Given the description of an element on the screen output the (x, y) to click on. 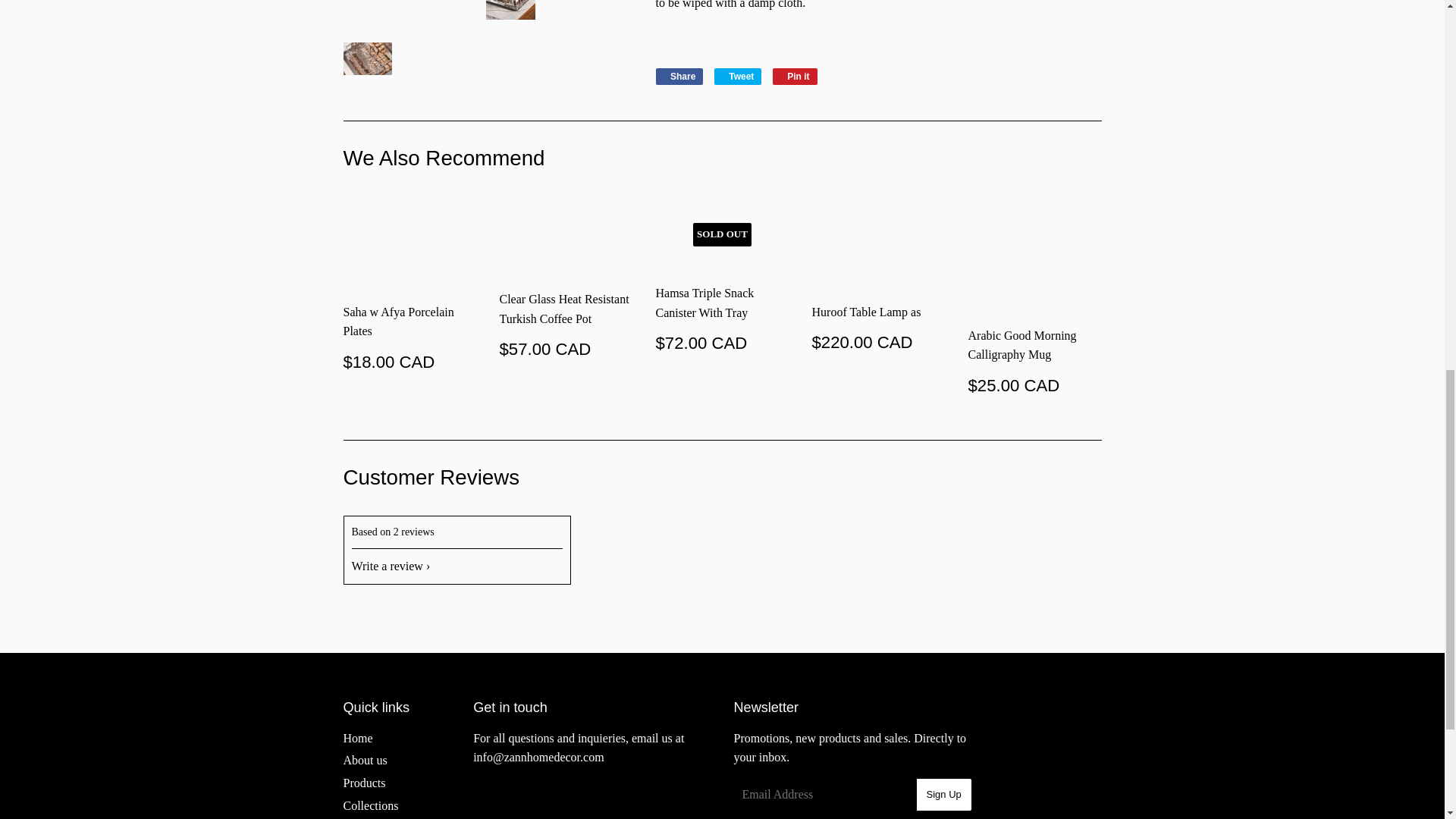
Tweet on Twitter (737, 76)
Share on Facebook (679, 76)
Pin on Pinterest (794, 76)
